Given the description of an element on the screen output the (x, y) to click on. 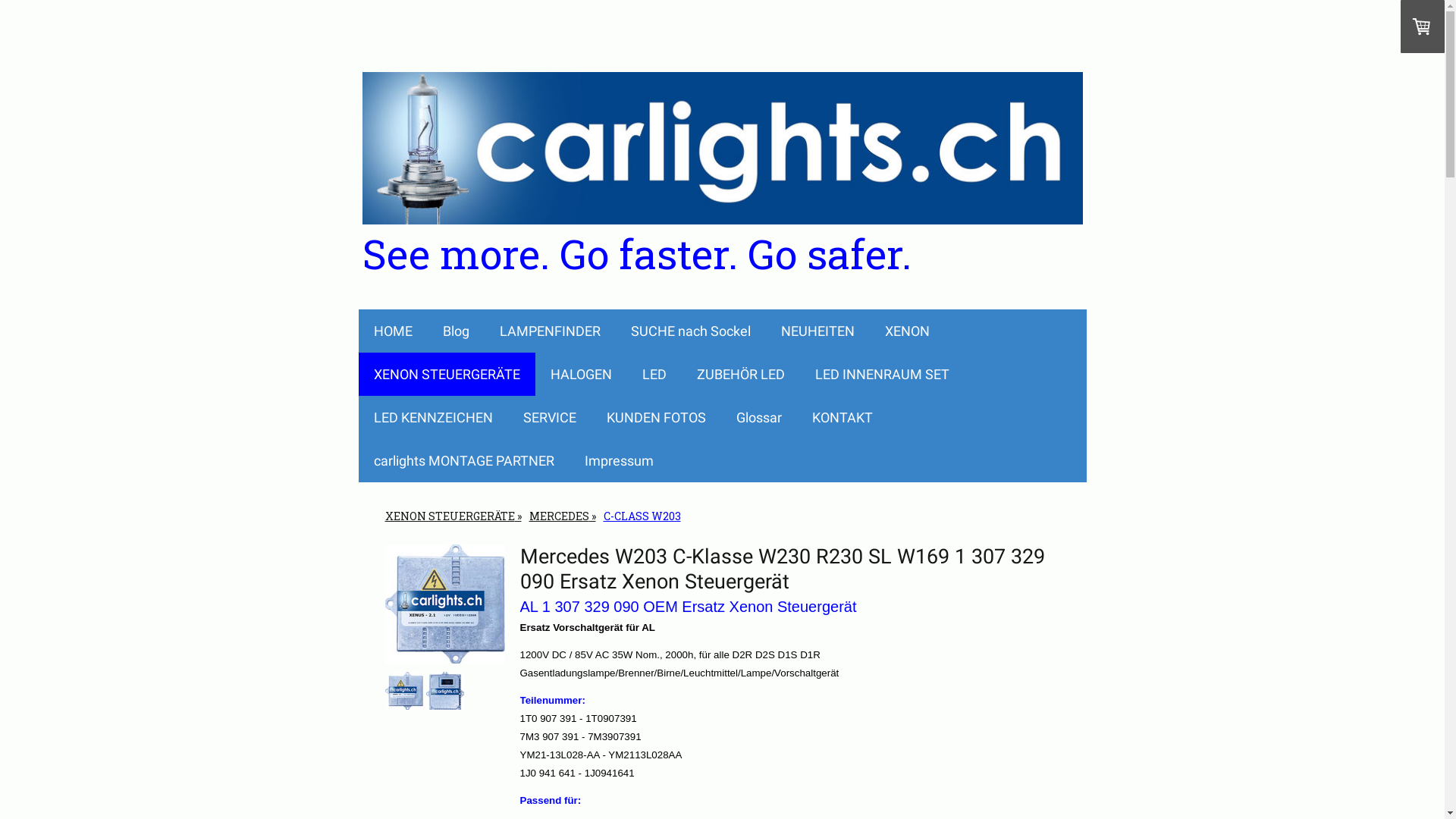
Blog Element type: text (455, 330)
HOME Element type: text (391, 330)
LED Element type: text (653, 373)
HALOGEN Element type: text (581, 373)
NEUHEITEN Element type: text (817, 330)
SERVICE Element type: text (549, 417)
LAMPENFINDER Element type: text (549, 330)
Glossar Element type: text (758, 417)
KONTAKT Element type: text (841, 417)
MERCEDES Element type: text (561, 515)
LED KENNZEICHEN Element type: text (432, 417)
KUNDEN FOTOS Element type: text (656, 417)
Impressum Element type: text (618, 460)
SUCHE nach Sockel Element type: text (690, 330)
carlights MONTAGE PARTNER Element type: text (462, 460)
LED INNENRAUM SET Element type: text (881, 373)
C-CLASS W203 Element type: text (641, 515)
XENON Element type: text (906, 330)
See more. Go faster. Go safer. Element type: text (722, 253)
